Given the description of an element on the screen output the (x, y) to click on. 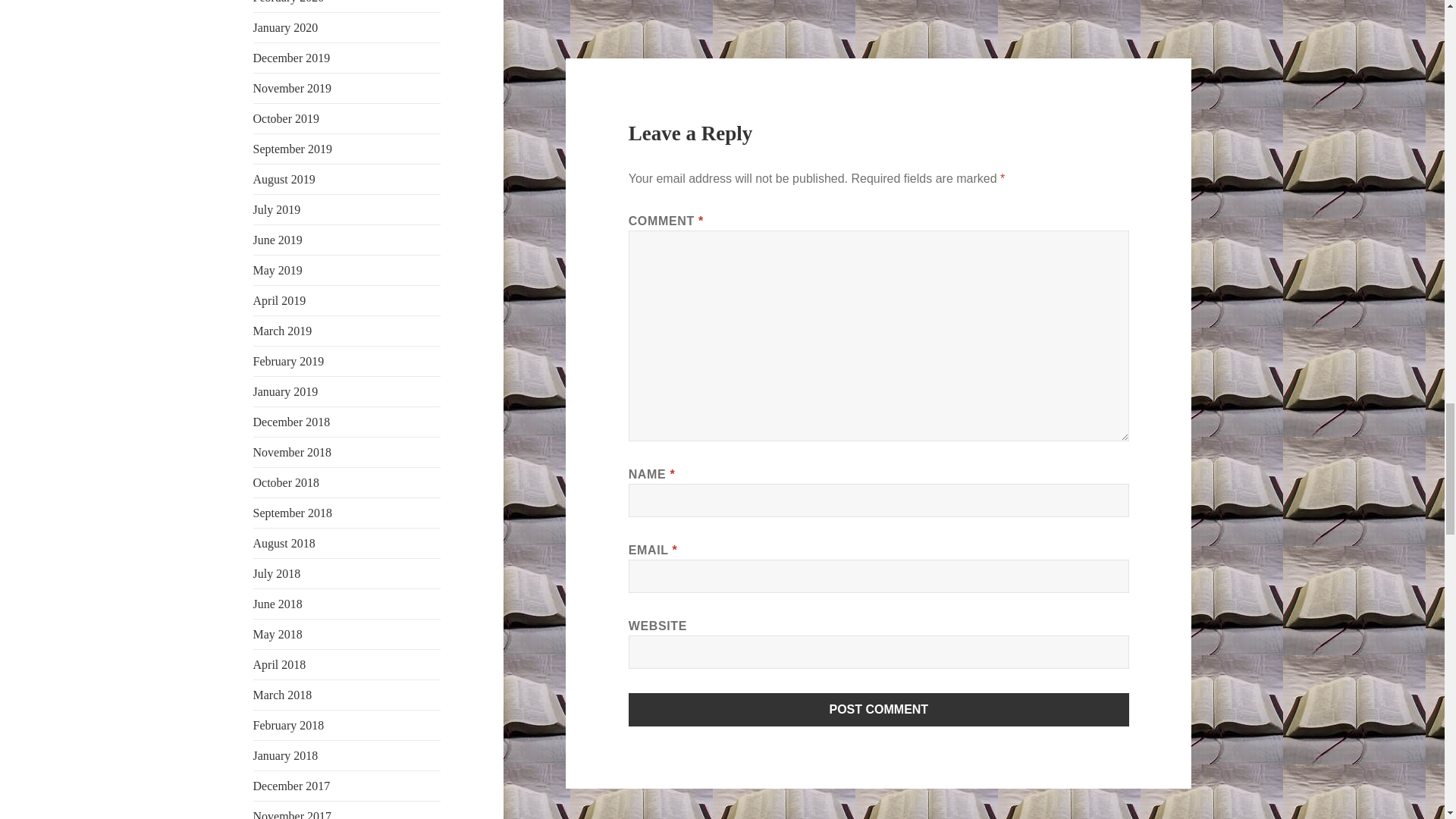
Post Comment (878, 709)
